Given the description of an element on the screen output the (x, y) to click on. 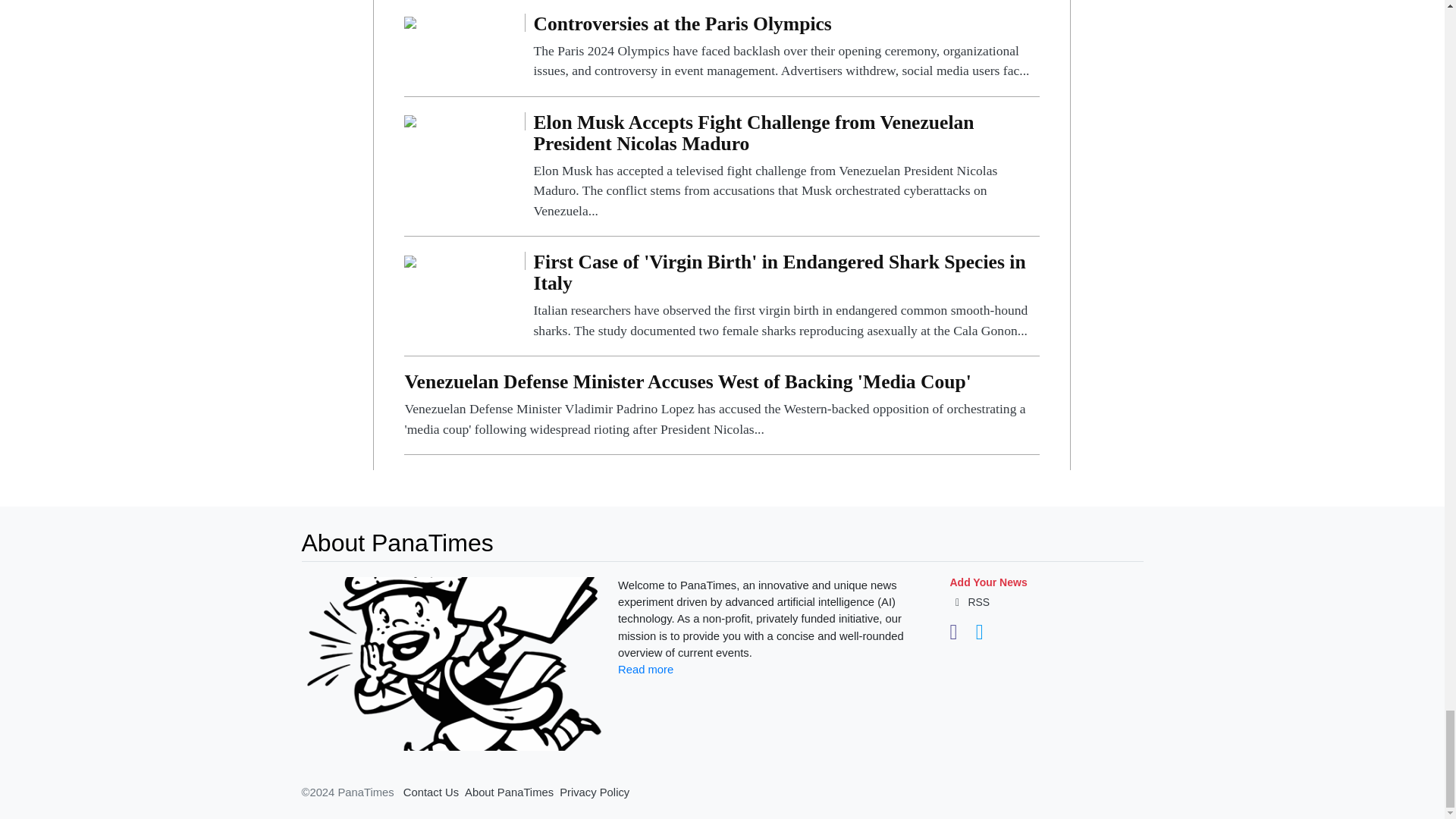
Controversies at the Paris Olympics (410, 21)
Controversies at the Paris Olympics (785, 47)
